Given the description of an element on the screen output the (x, y) to click on. 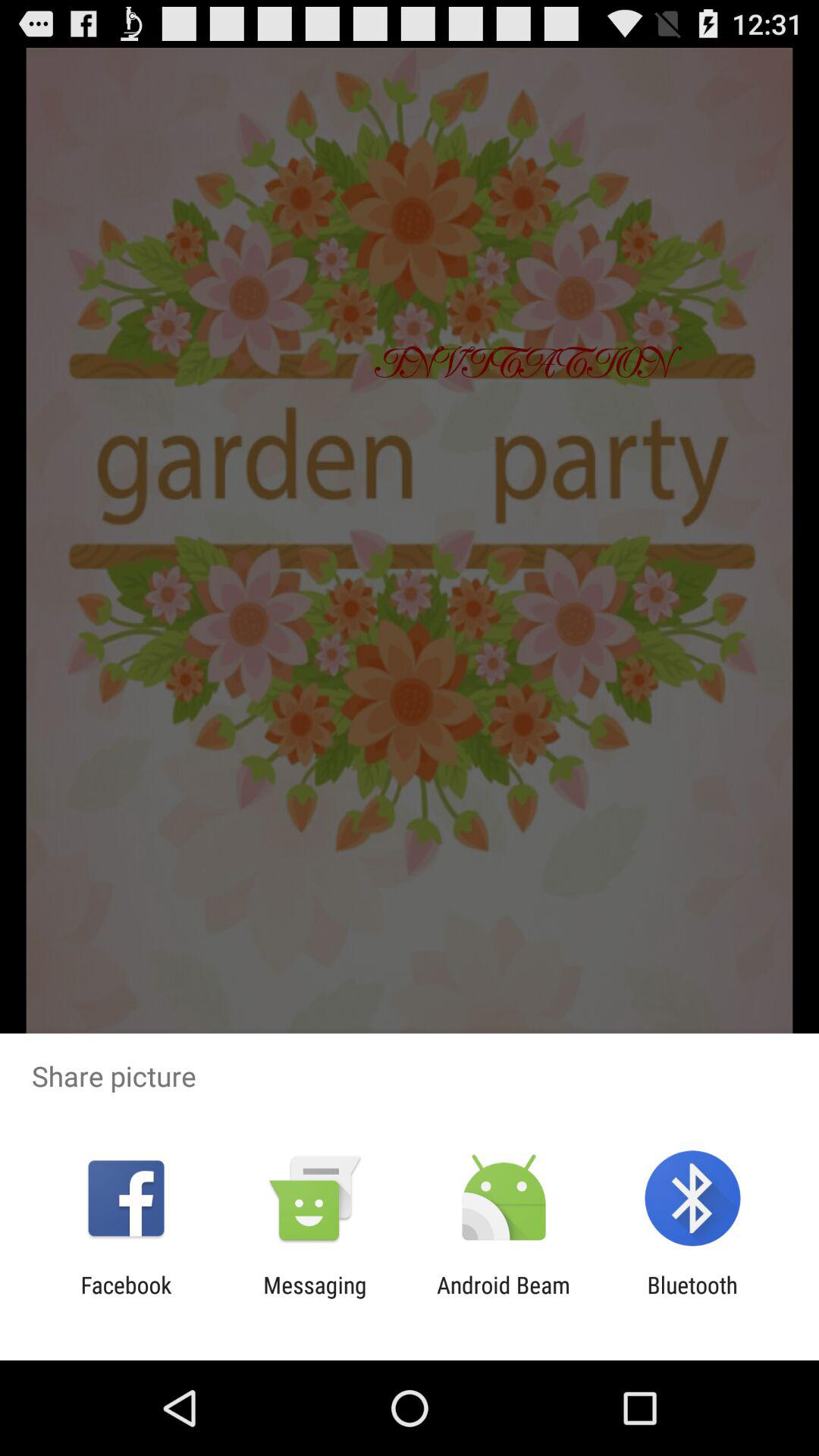
press icon to the left of android beam app (314, 1298)
